Given the description of an element on the screen output the (x, y) to click on. 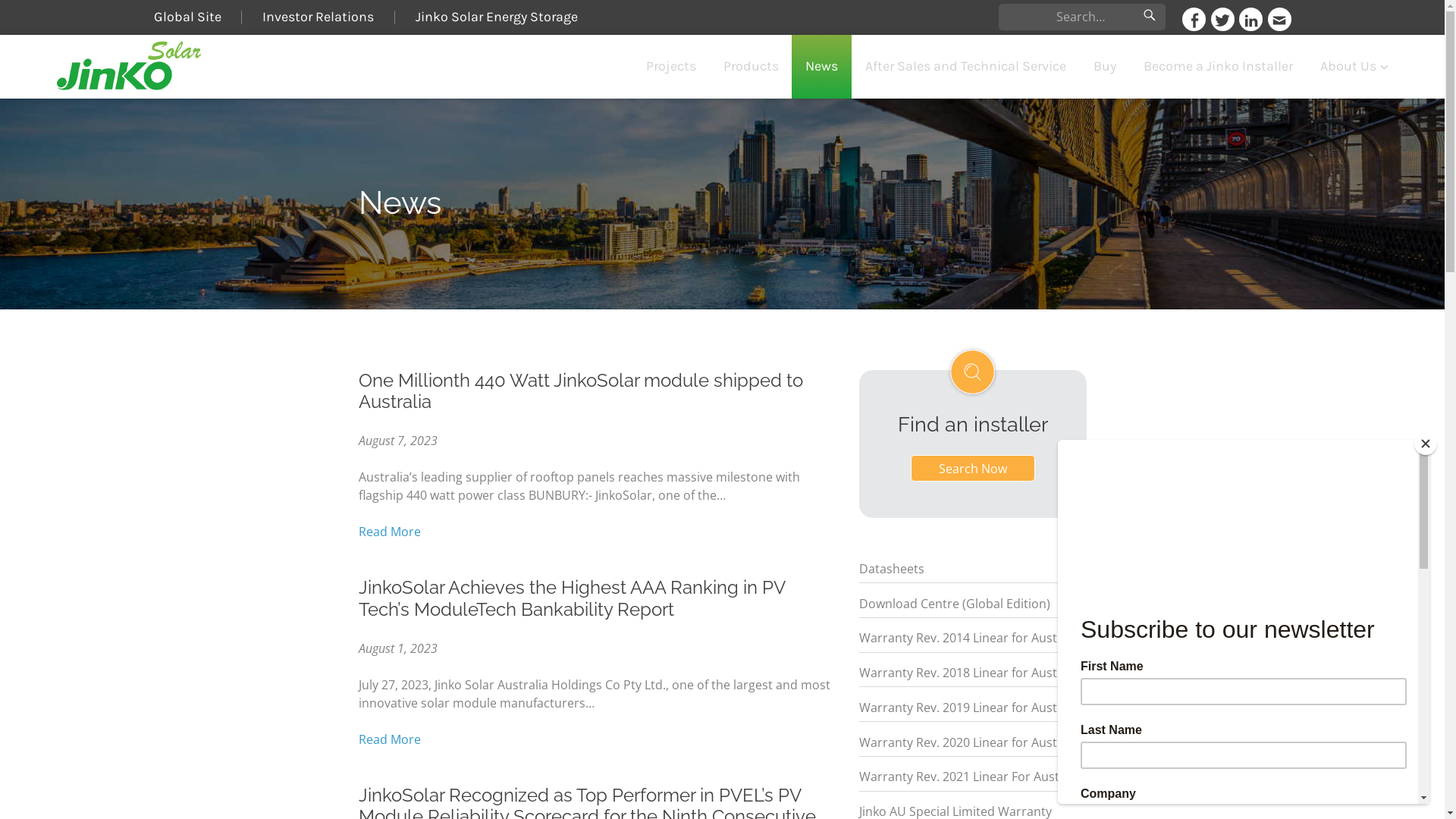
Search Now Element type: text (972, 468)
Datasheets Element type: text (890, 568)
Projects Element type: text (670, 66)
Products Element type: text (750, 66)
August 7, 2023 Element type: text (396, 440)
Warranty Rev. 2014 Linear for Australia Element type: text (969, 637)
Buy Element type: text (1104, 66)
News Element type: text (821, 66)
Read More Element type: text (388, 531)
August 1, 2023 Element type: text (396, 648)
About Us Element type: text (1355, 66)
Search Element type: hover (1149, 16)
Download Centre (Global Edition) Element type: text (953, 603)
Global Site Element type: text (197, 17)
Warranty Rev. 2021 Linear For Australia Element type: text (970, 776)
Warranty Rev. 2019 Linear for Australia Element type: text (969, 707)
Warranty Rev. 2020 Linear for Australia Element type: text (969, 742)
Read More Element type: text (388, 739)
After Sales and Technical Service Element type: text (965, 66)
Jinko Solar Energy Storage Element type: text (496, 17)
Become a Jinko Installer Element type: text (1217, 66)
Investor Relations Element type: text (317, 17)
Warranty Rev. 2018 Linear for Australia Element type: text (969, 672)
